Given the description of an element on the screen output the (x, y) to click on. 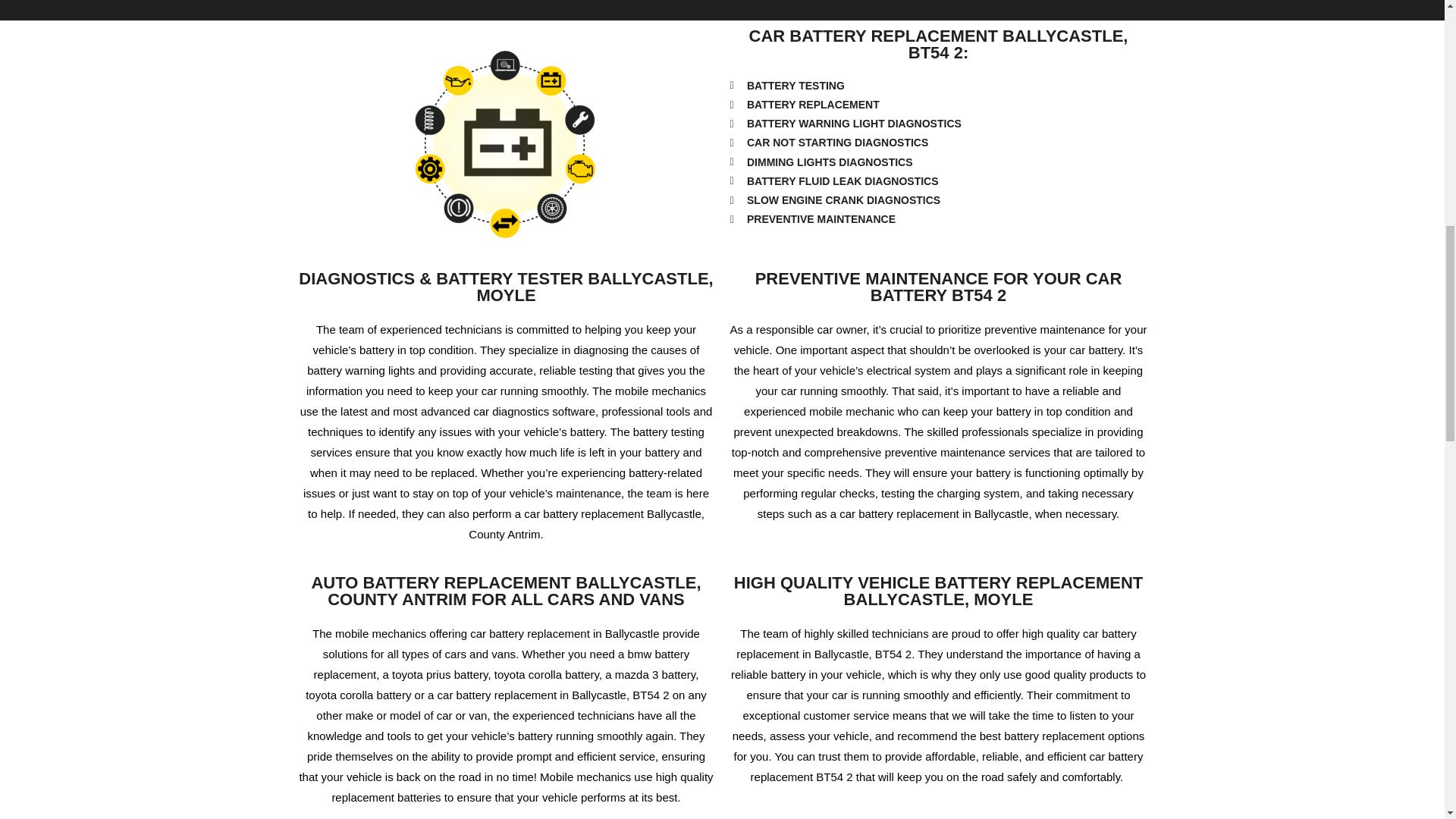
A BATTERY FLUID LEAK (391, 1)
